Given the description of an element on the screen output the (x, y) to click on. 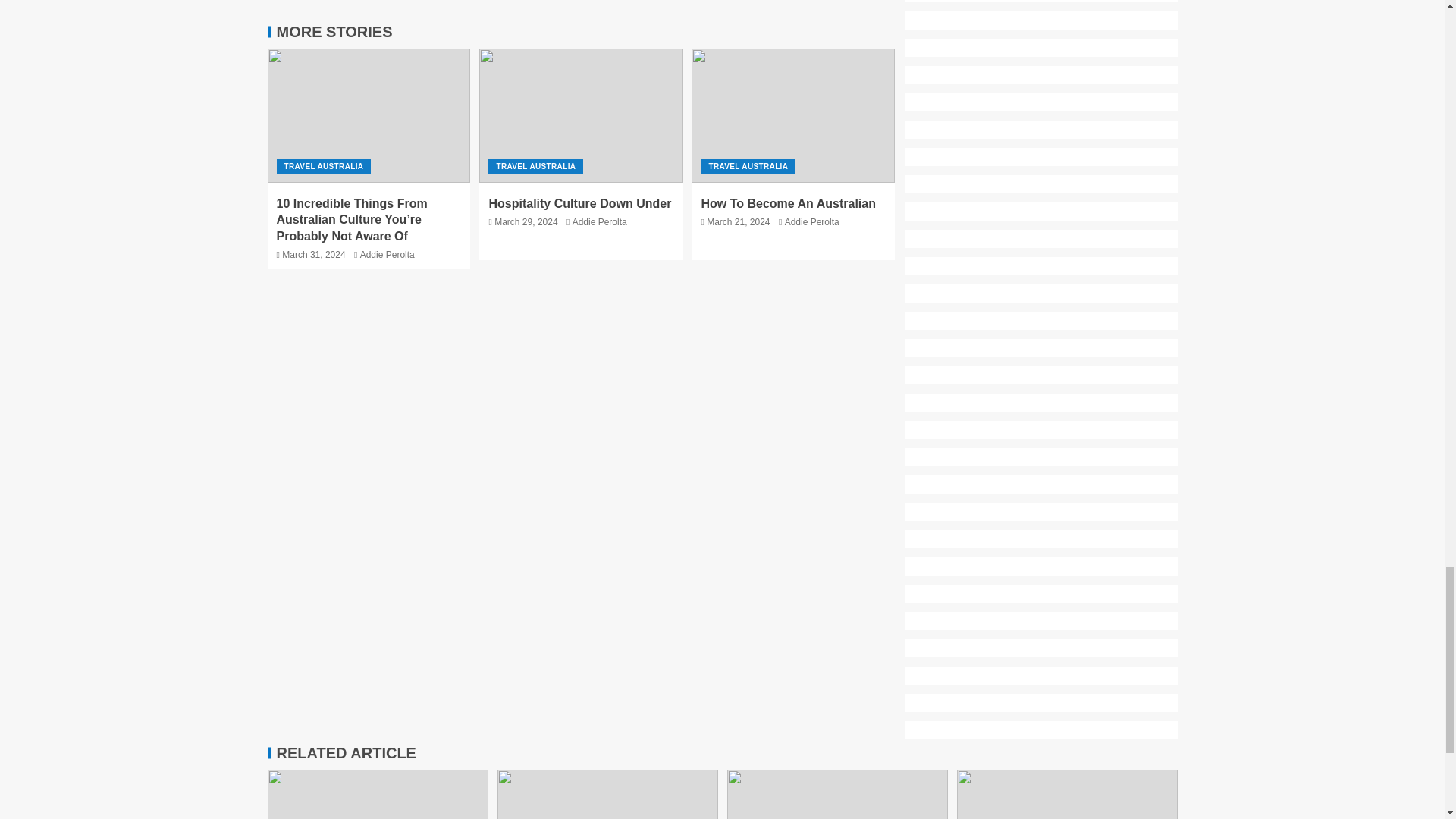
TRAVEL AUSTRALIA (535, 165)
TRAVEL AUSTRALIA (747, 165)
TRAVEL AUSTRALIA (323, 165)
Addie Perolta (812, 222)
How To Become An Australian (788, 203)
Hospitality Culture Down Under (579, 203)
Addie Perolta (386, 254)
Addie Perolta (599, 222)
